Given the description of an element on the screen output the (x, y) to click on. 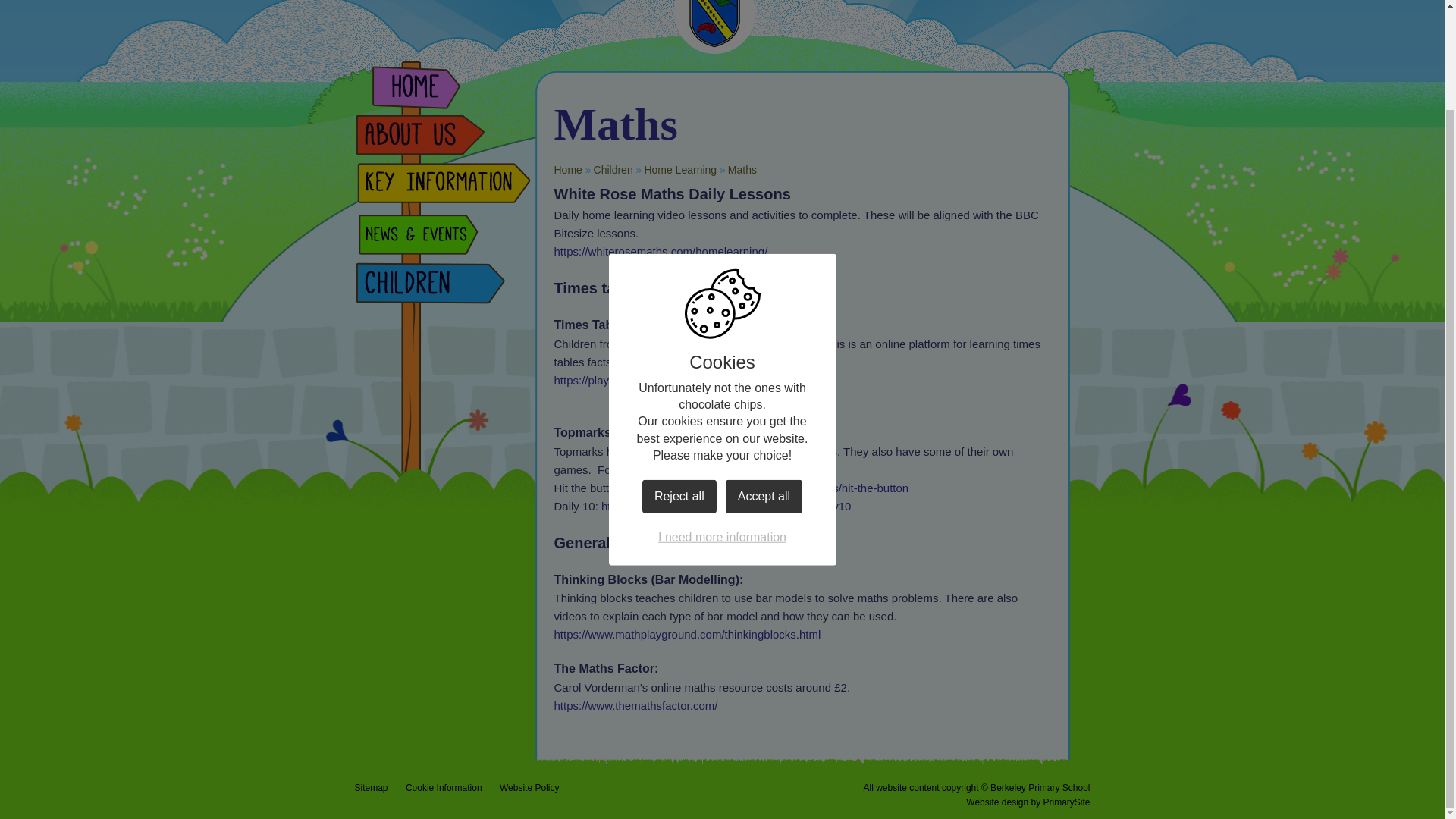
Home (566, 169)
Home Page (713, 27)
Children (613, 169)
Key Information (442, 186)
Maths (742, 169)
About Us (442, 138)
Home Page (713, 27)
Home Learning (679, 169)
Home (442, 90)
